Given the description of an element on the screen output the (x, y) to click on. 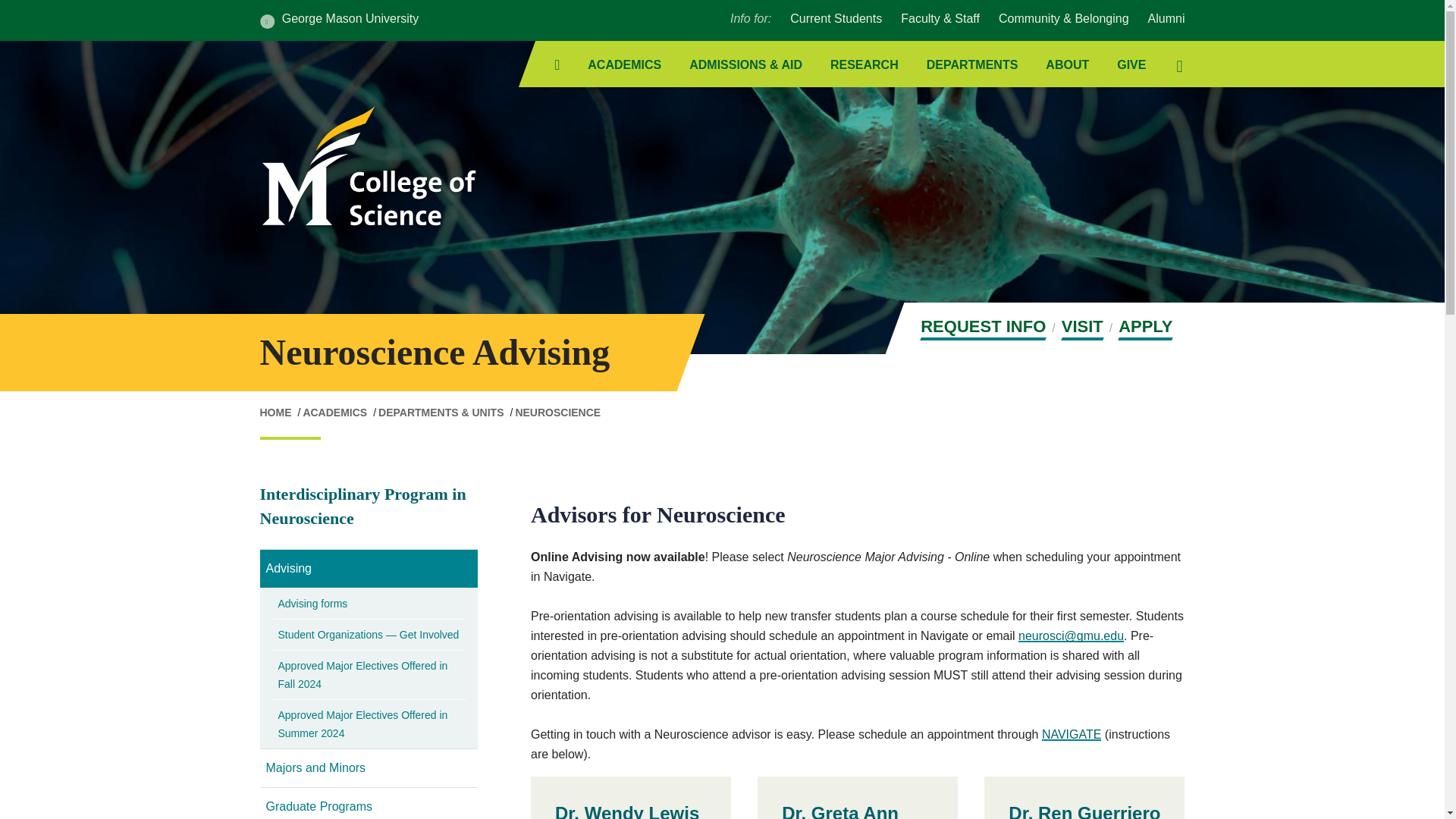
VISIT (1082, 328)
RESEARCH (863, 65)
Current Students (836, 18)
NEUROSCIENCE (557, 412)
ACADEMICS (334, 412)
Alumni (1166, 18)
ABOUT (1067, 65)
Advising forms (367, 603)
DEPARTMENTS (971, 65)
Graduate Programs (368, 803)
Interdisciplinary Program in Neuroscience (362, 505)
Advising (368, 568)
Majors and Minors (368, 768)
APPLY (1145, 328)
Approved Major Electives Offered in Fall 2024 (367, 674)
